Given the description of an element on the screen output the (x, y) to click on. 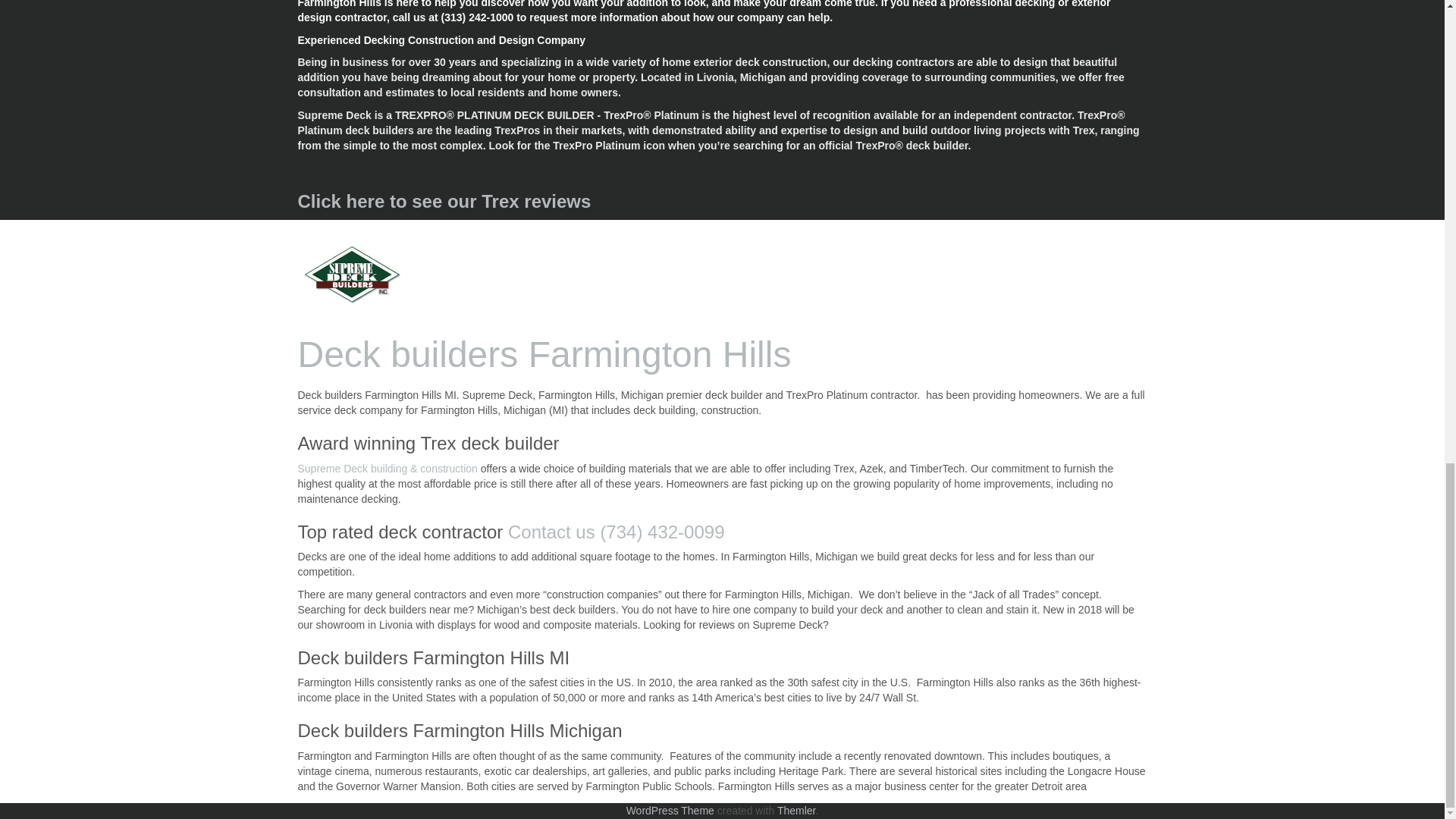
Click here to see our Trex reviews (444, 200)
WordPress Theme (670, 810)
Themler (796, 810)
Deck builders Farmington Hills (351, 274)
